Given the description of an element on the screen output the (x, y) to click on. 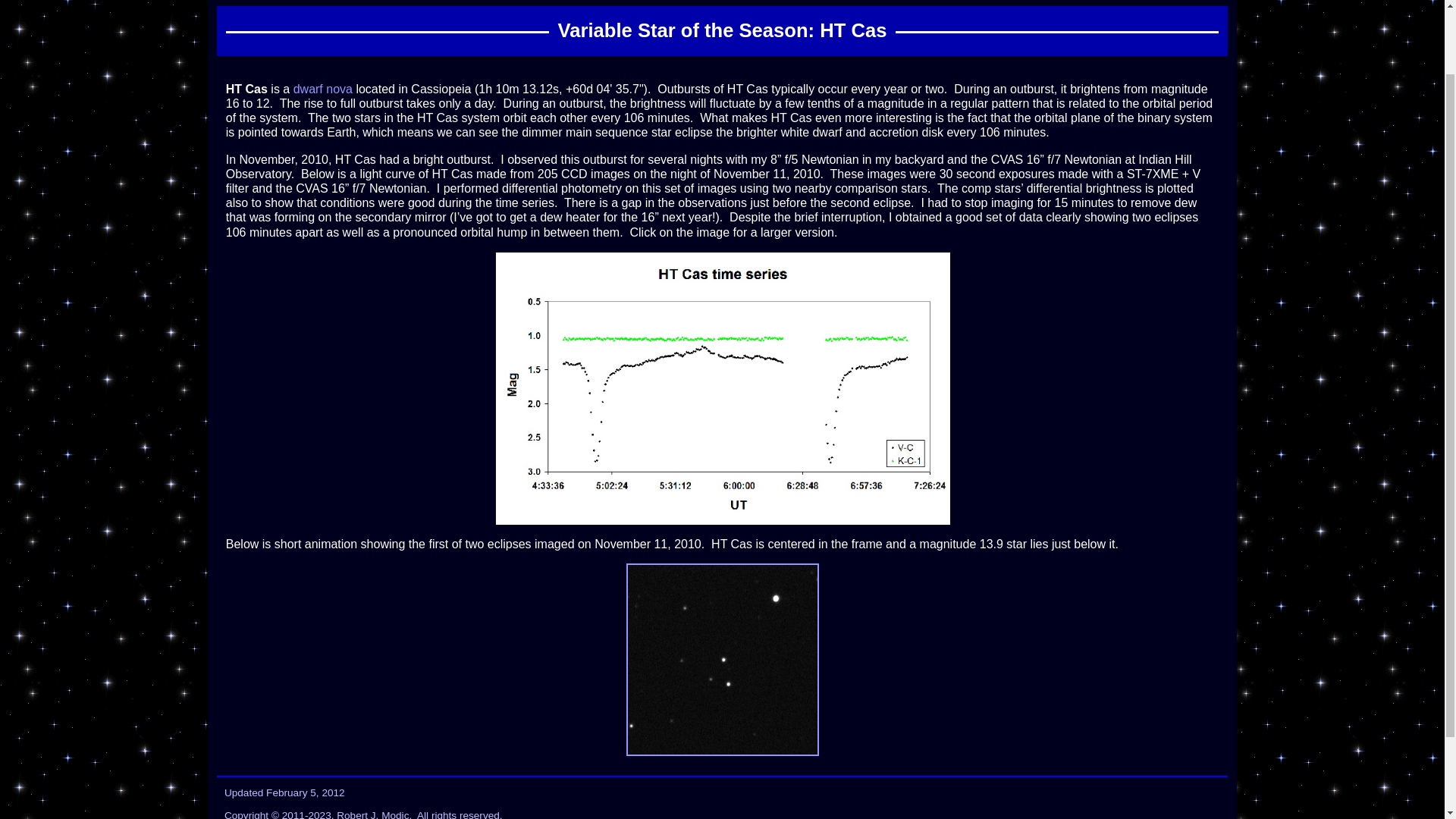
dwarf nova (323, 88)
